Given the description of an element on the screen output the (x, y) to click on. 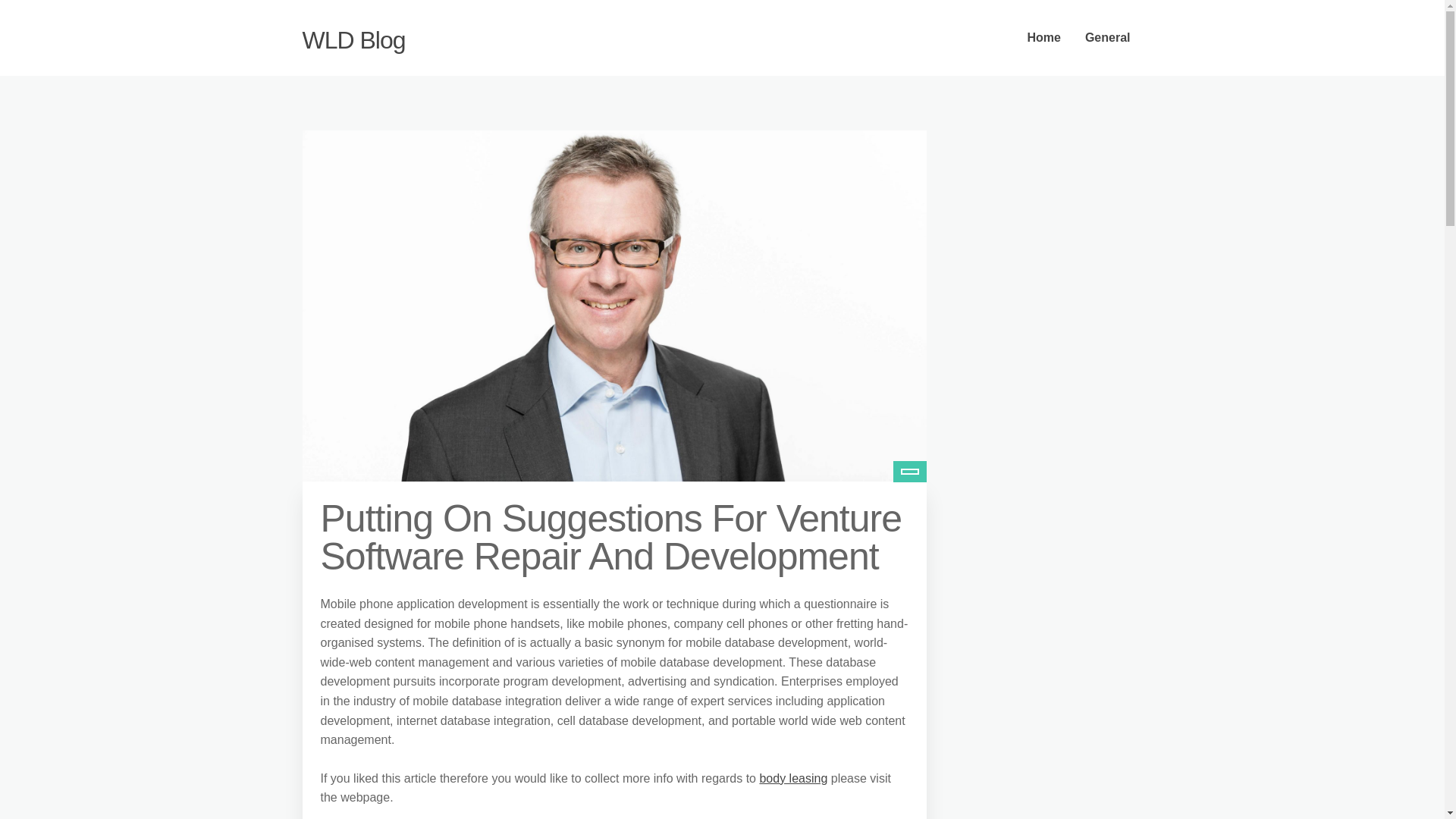
Home (1042, 37)
WLD Blog (352, 39)
General (1107, 37)
body leasing (792, 778)
